Given the description of an element on the screen output the (x, y) to click on. 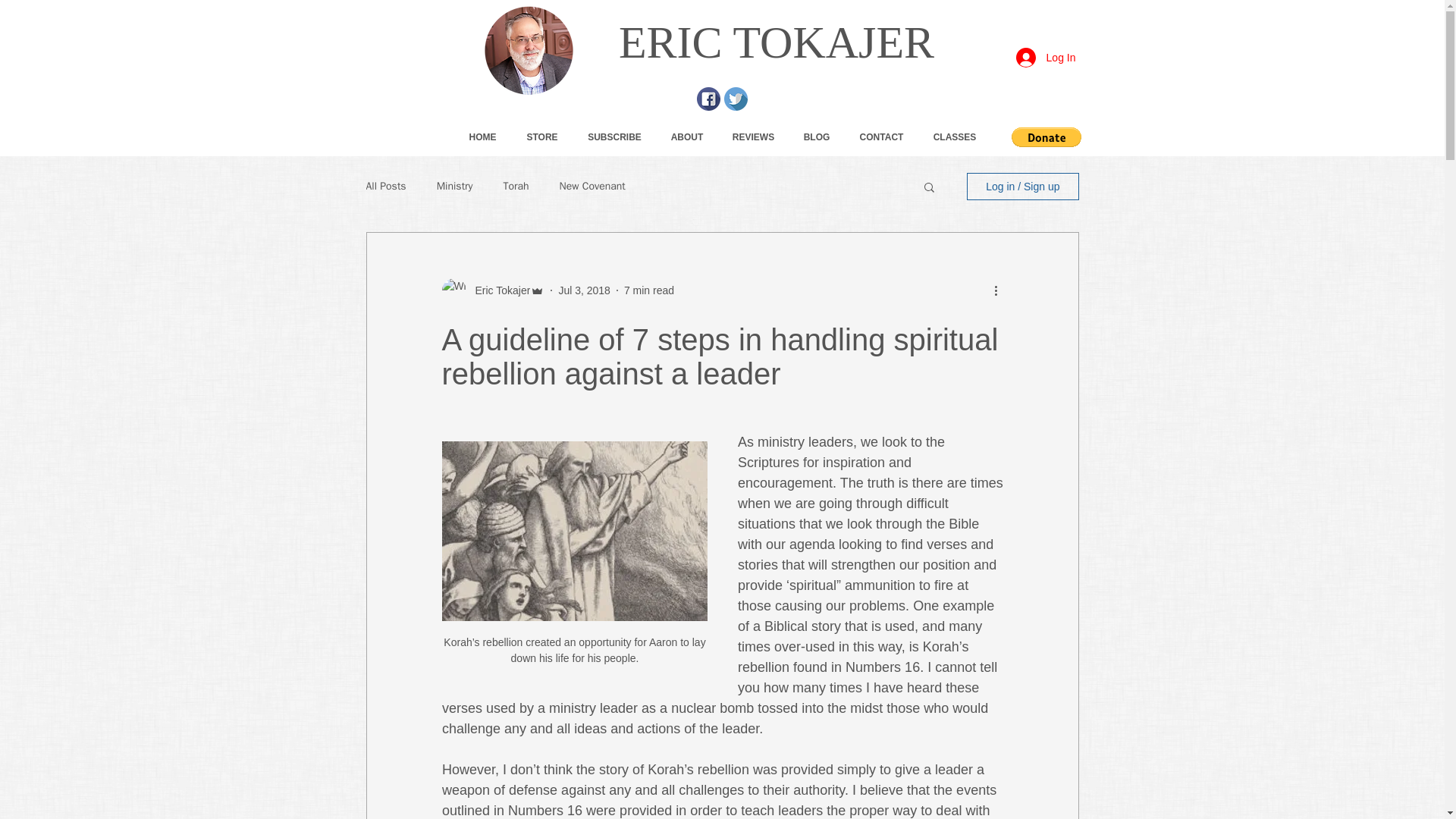
CLASSES (954, 136)
BLOG (816, 136)
Eric Tokajer (492, 290)
Eric Tokajer (497, 289)
HOME (481, 136)
7 min read (649, 289)
New Covenant (592, 186)
REVIEWS (753, 136)
STORE (541, 136)
Log In (1046, 57)
ERIC TOKAJER (776, 42)
ABOUT (686, 136)
CONTACT (881, 136)
All Posts (385, 186)
Jul 3, 2018 (583, 289)
